Given the description of an element on the screen output the (x, y) to click on. 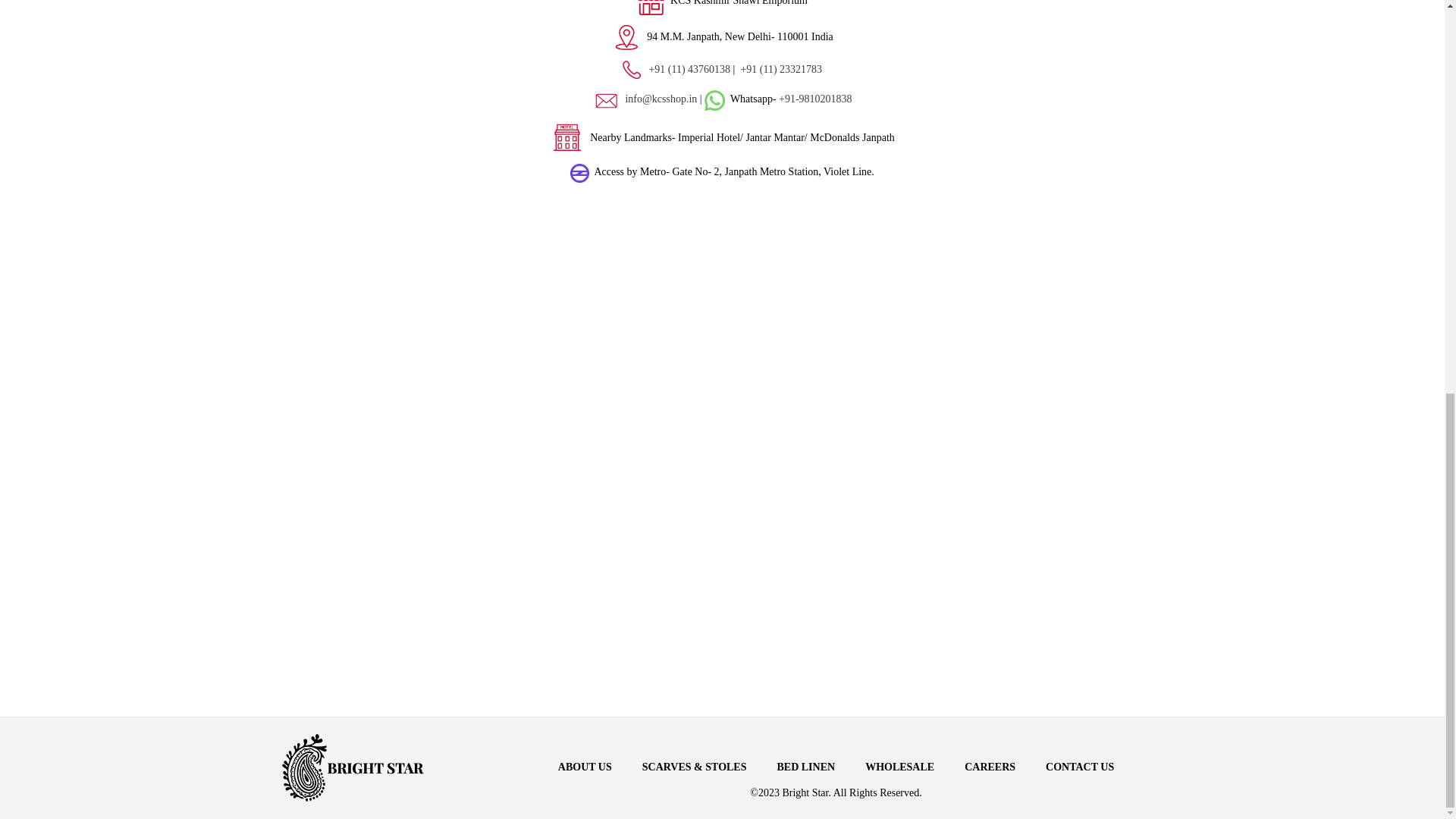
CONTACT US (1079, 767)
ABOUT US (584, 767)
BED LINEN (805, 767)
WHOLESALE (899, 767)
Scroll To Top (1421, 87)
CAREERS (988, 767)
